Given the description of an element on the screen output the (x, y) to click on. 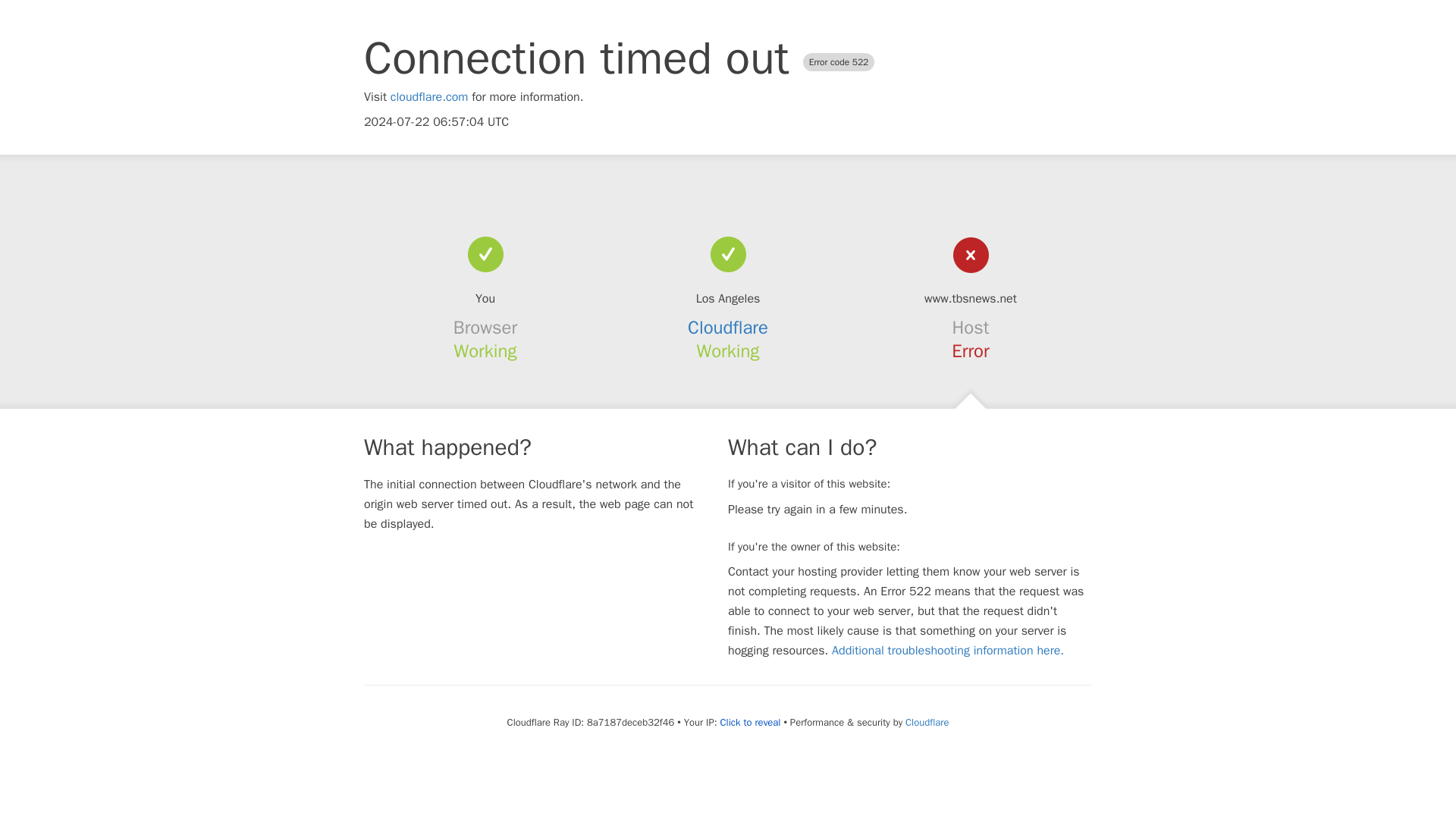
Click to reveal (750, 722)
cloudflare.com (429, 96)
Cloudflare (927, 721)
Cloudflare (727, 327)
Additional troubleshooting information here. (947, 650)
